Given the description of an element on the screen output the (x, y) to click on. 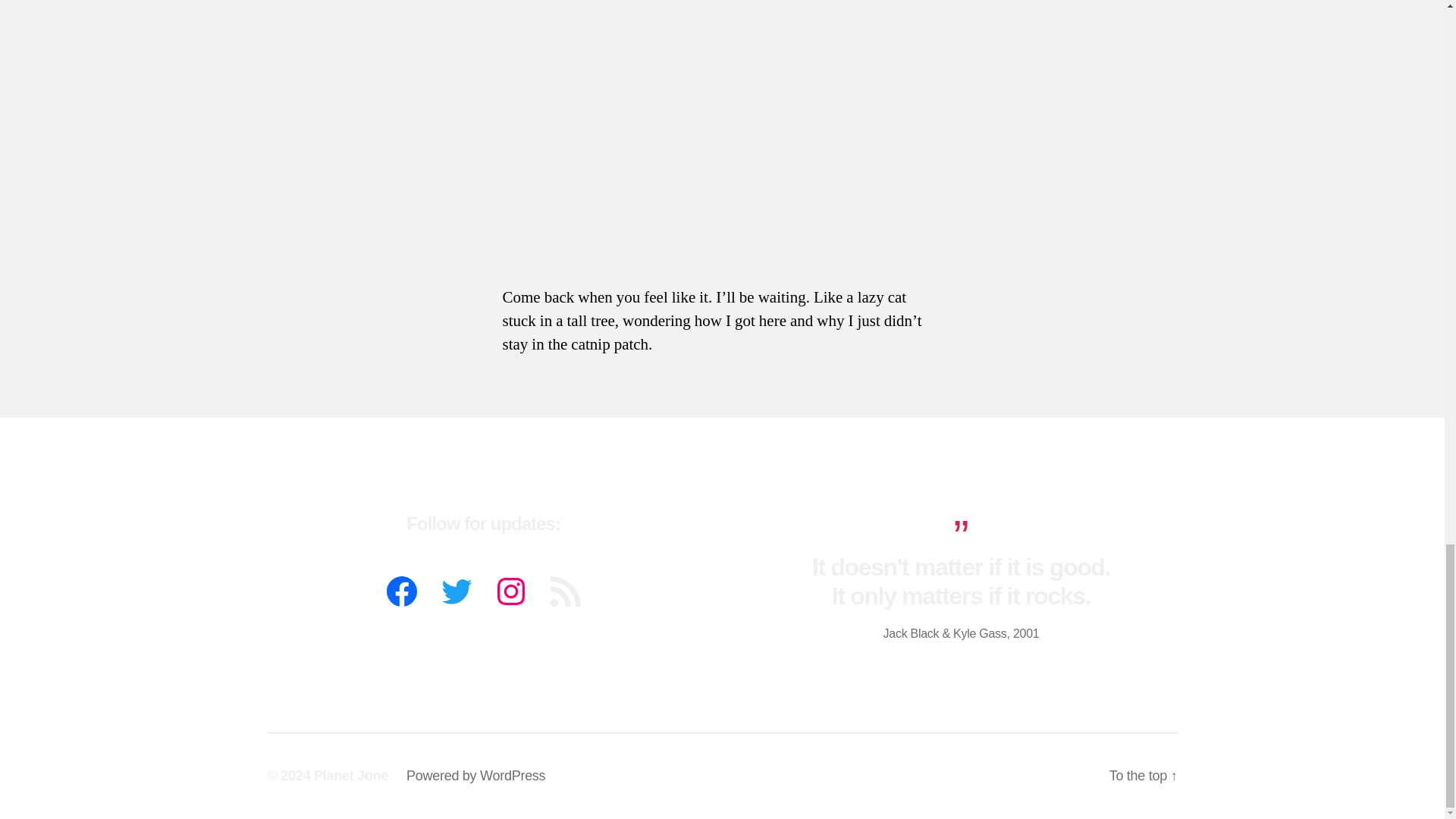
Facebook (402, 591)
Planet Jone (351, 775)
RSS Feed (565, 591)
Instagram (511, 591)
Twitter (456, 591)
Powered by WordPress (475, 775)
